Given the description of an element on the screen output the (x, y) to click on. 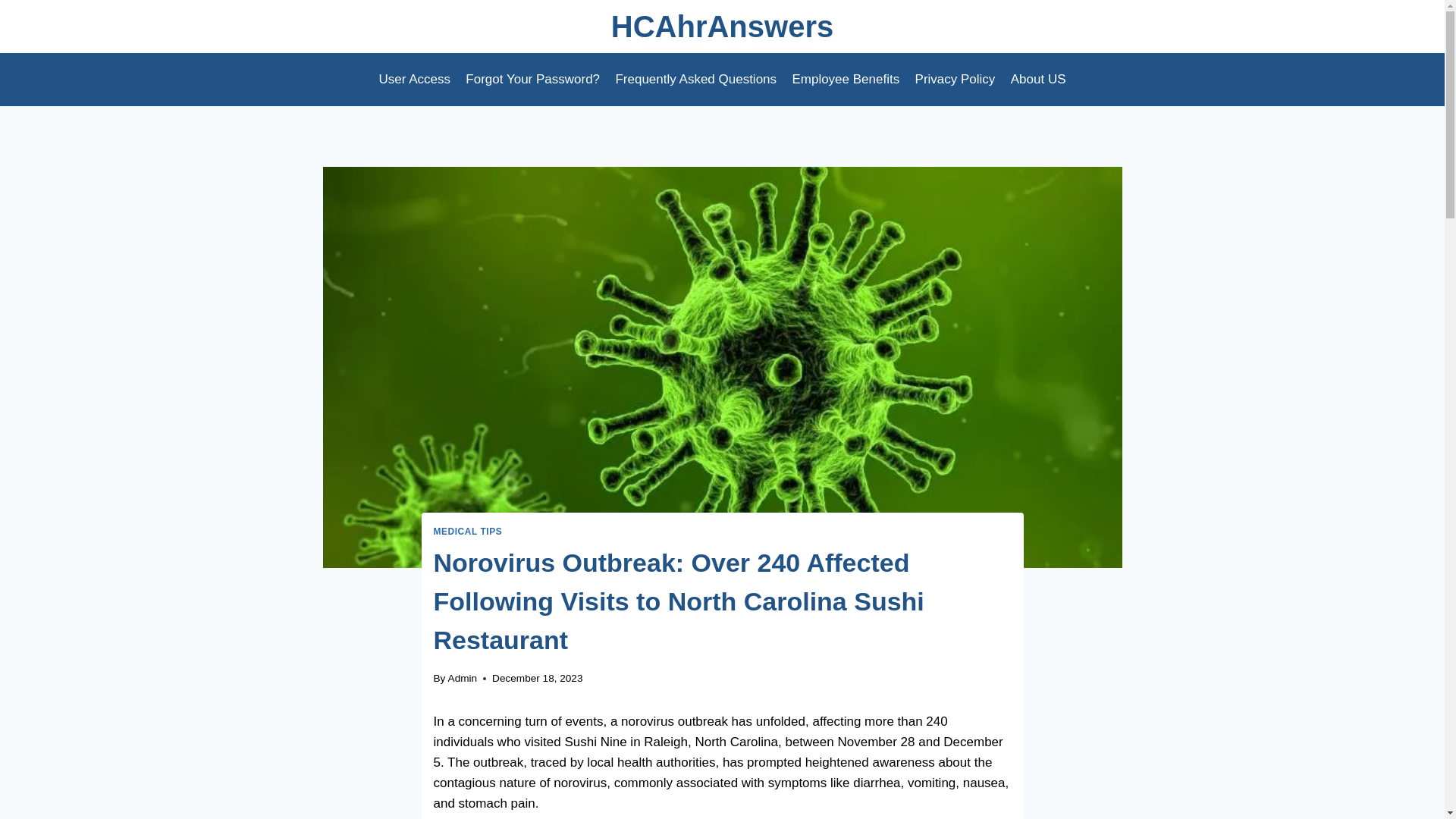
Employee Benefits (845, 79)
HCAhrAnswers (721, 26)
User Access (414, 79)
Forgot Your Password? (532, 79)
Admin (462, 677)
About US (1038, 79)
MEDICAL TIPS (467, 531)
Privacy Policy (955, 79)
Frequently Asked Questions (695, 79)
